Given the description of an element on the screen output the (x, y) to click on. 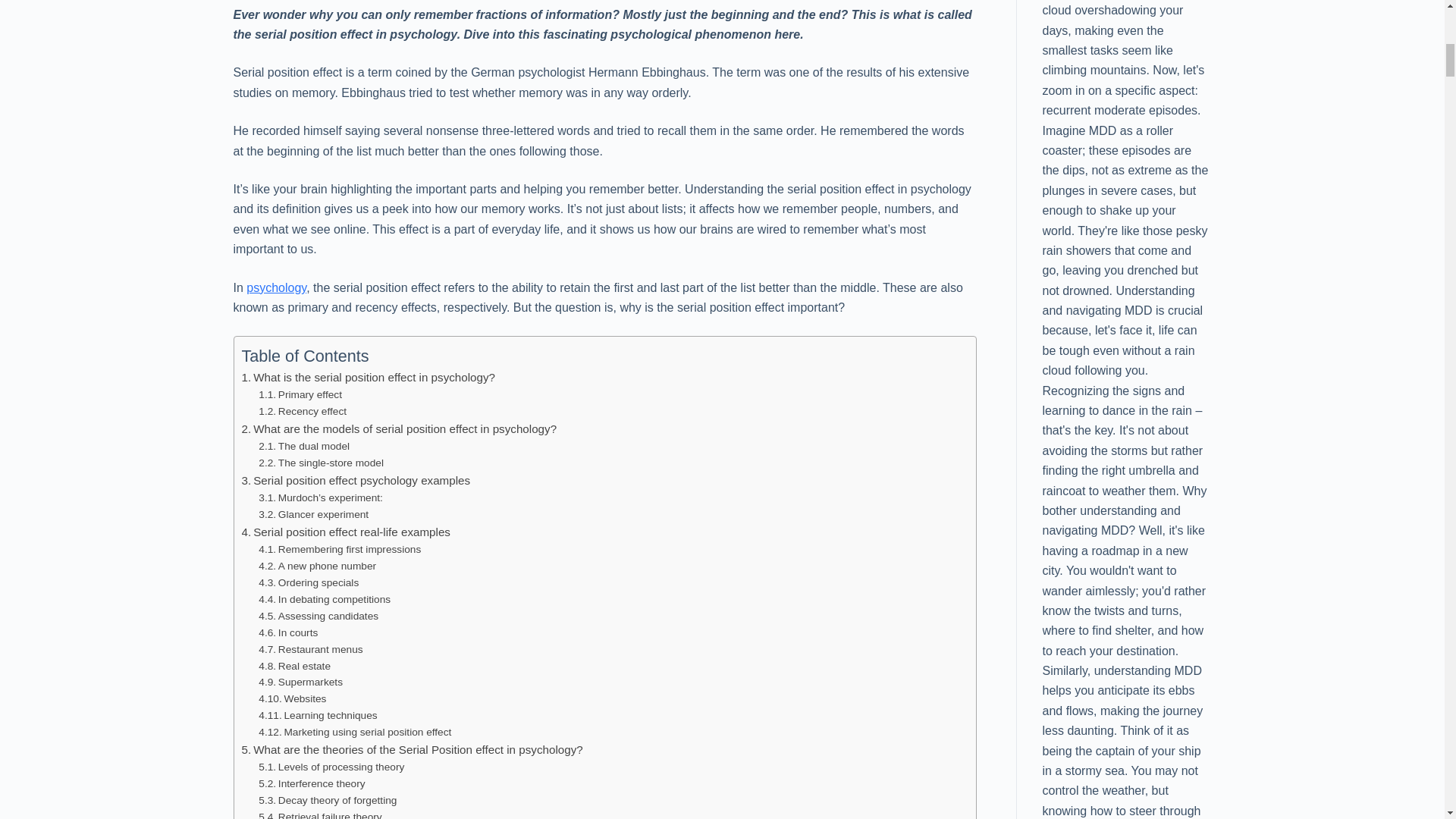
Remembering first impressions (339, 549)
Primary effect (300, 394)
What are the models of serial position effect in psychology? (398, 429)
The single-store model (321, 463)
Serial position effect real-life examples (345, 532)
A new phone number (317, 565)
Serial position effect psychology examples (355, 480)
What is the serial position effect in psychology? (368, 377)
Glancer experiment (313, 514)
Recency effect (302, 411)
